Given the description of an element on the screen output the (x, y) to click on. 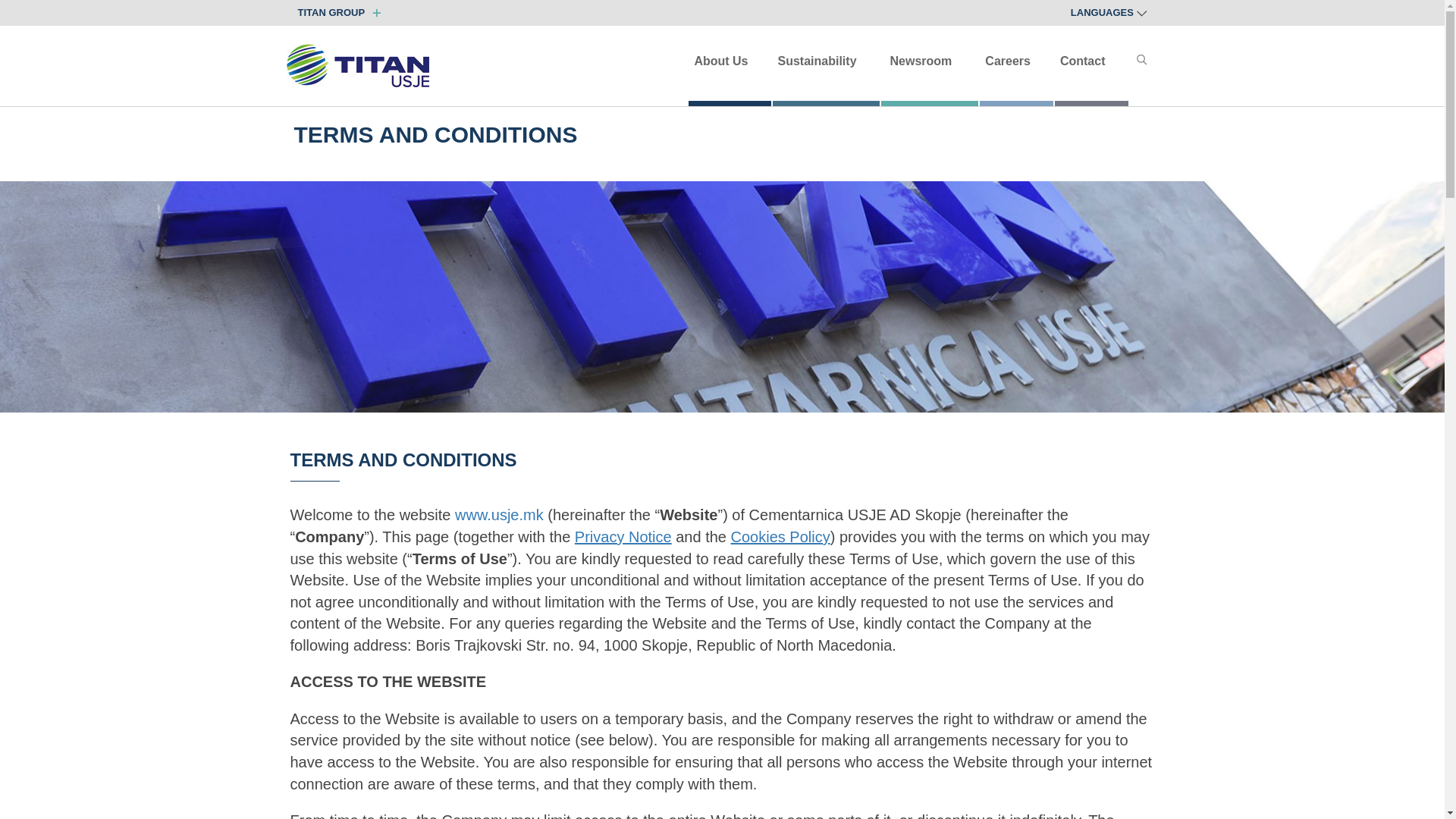
TITAN GROUP (334, 12)
LANGUAGES (1108, 10)
Cookies policy (779, 536)
Privacy policy (623, 536)
